Given the description of an element on the screen output the (x, y) to click on. 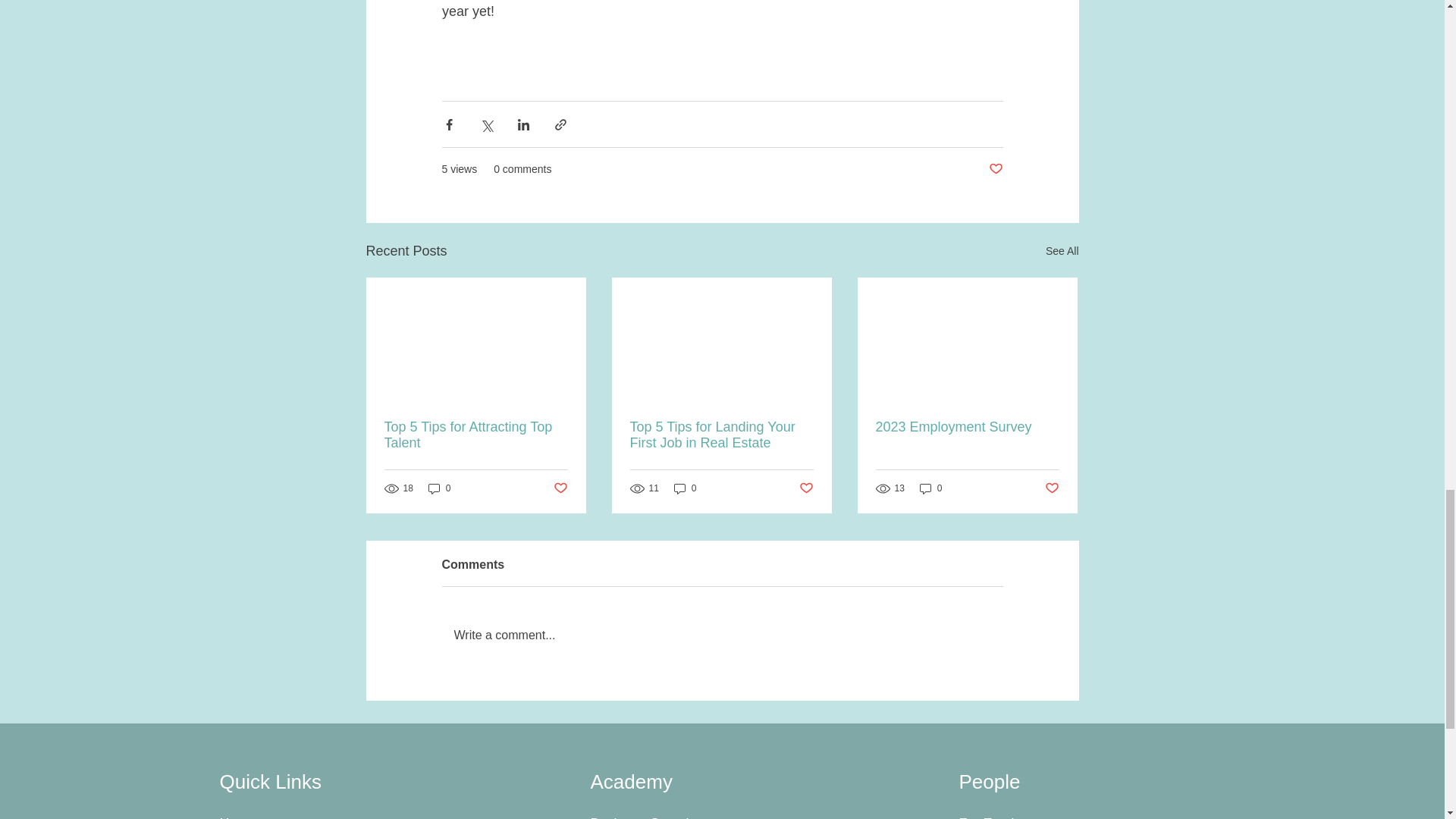
Post not marked as liked (1052, 488)
Post not marked as liked (806, 488)
0 (930, 488)
2023 Employment Survey (966, 426)
Top 5 Tips for Attracting Top Talent (475, 435)
Top 5 Tips for Landing Your First Job in Real Estate (720, 435)
Write a comment... (722, 635)
0 (439, 488)
0 (685, 488)
Post not marked as liked (995, 169)
See All (1061, 251)
Post not marked as liked (560, 488)
Home (237, 817)
